Given the description of an element on the screen output the (x, y) to click on. 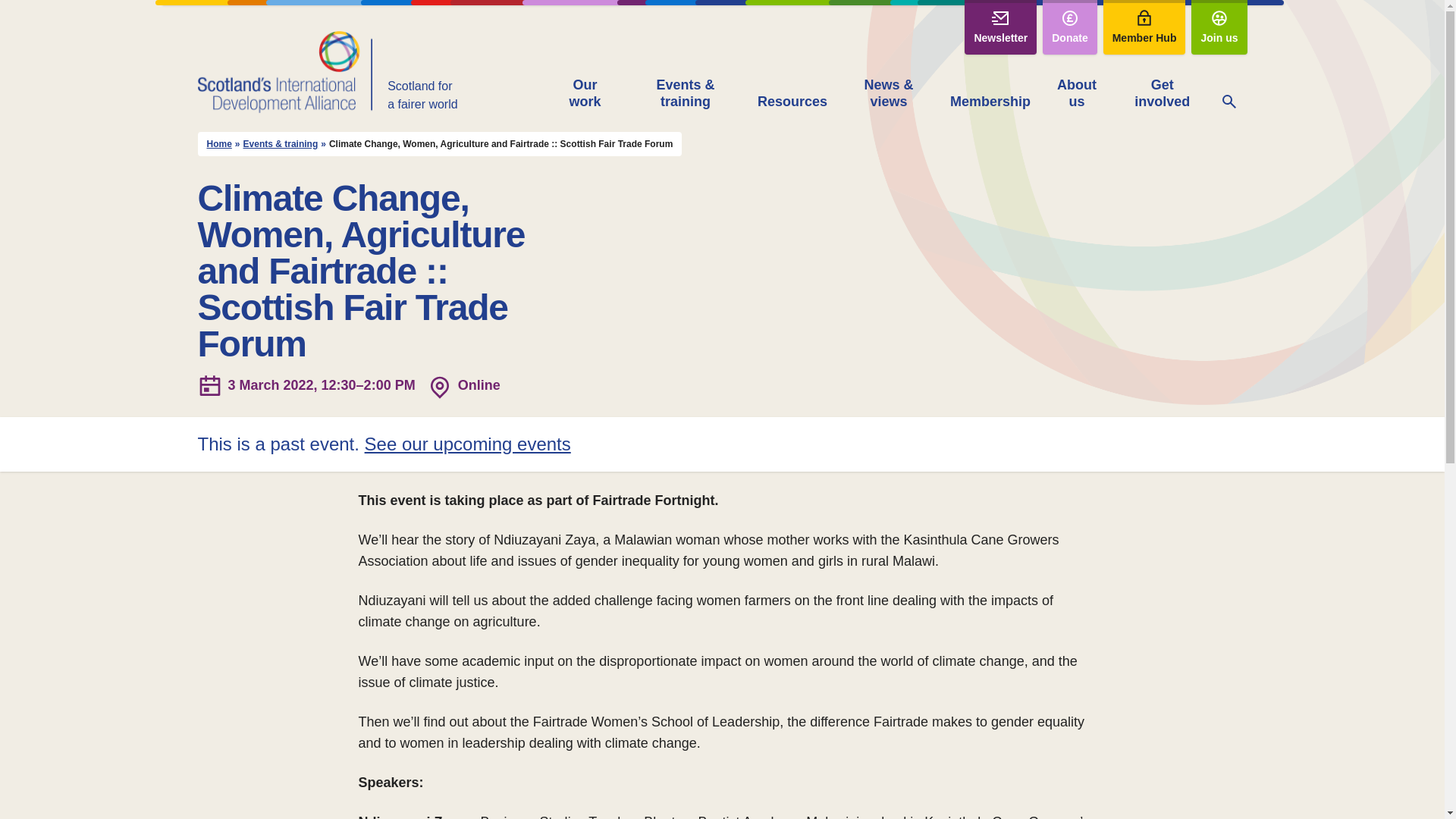
Go to Scotland's International Development Alliance. (218, 143)
Membership (989, 102)
About us (1076, 94)
Resources (791, 102)
Our work (585, 94)
